Given the description of an element on the screen output the (x, y) to click on. 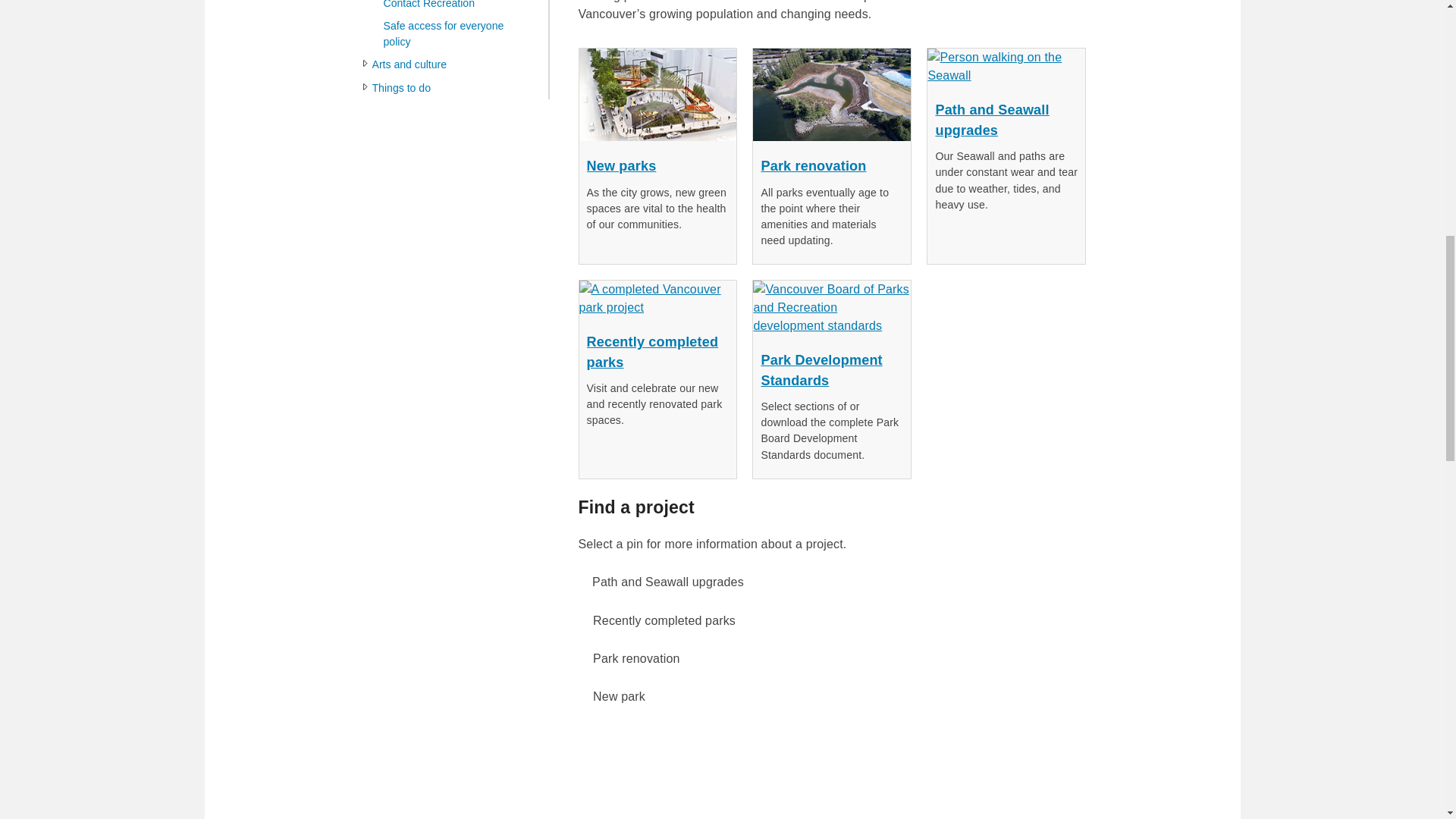
Restoration of a waterfront park by Vancouver Park Board (831, 94)
A completed Vancouver park project (657, 298)
Person walking on the Seawall (1005, 66)
Concept drawing of a new park (657, 94)
